Given the description of an element on the screen output the (x, y) to click on. 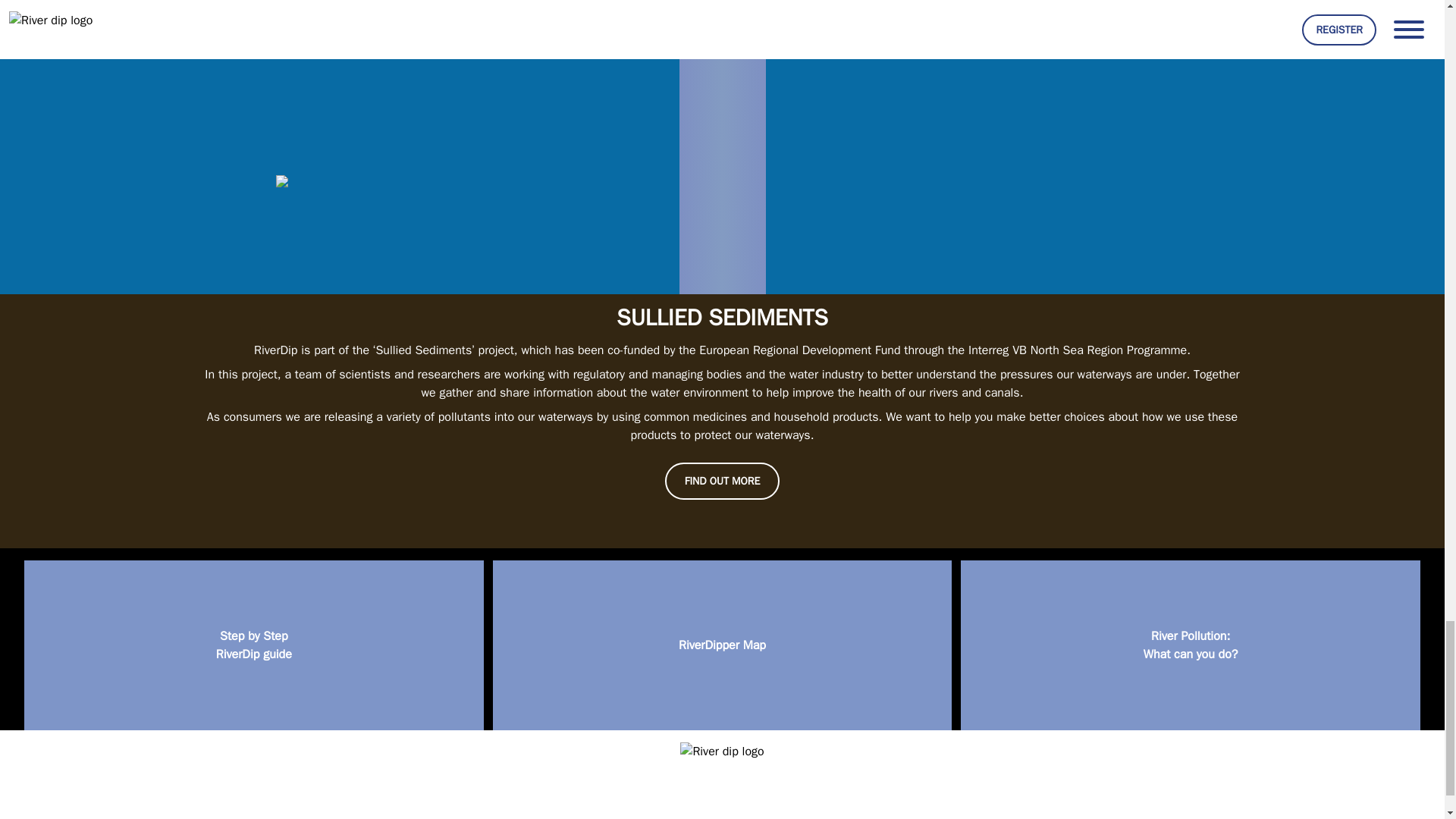
RiverDipper Map (1190, 645)
VIEW MAP (722, 645)
FIND OUT MORE (1155, 167)
